Given the description of an element on the screen output the (x, y) to click on. 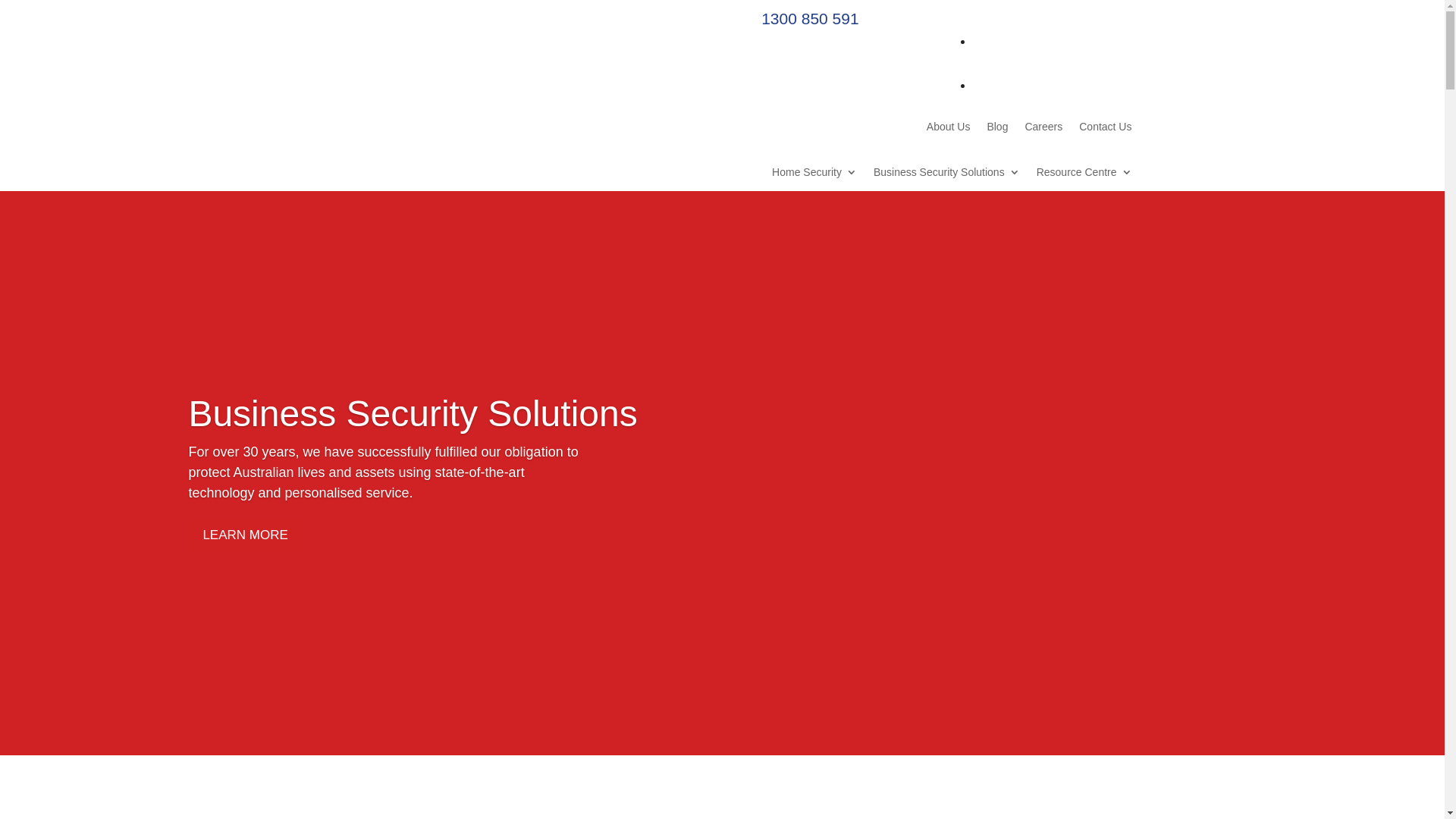
1300 850 591 Element type: text (801, 18)
Business Security Solutions Element type: text (946, 174)
Careers Element type: text (1043, 129)
Business Security Solutions Element type: text (412, 413)
About Us Element type: text (948, 129)
Home Security Element type: text (813, 174)
LEARN MORE Element type: text (244, 535)
Resource Centre Element type: text (1084, 174)
Blog Element type: text (996, 129)
logo-lg Element type: hover (413, 137)
Contact Us Element type: text (1105, 129)
